Given the description of an element on the screen output the (x, y) to click on. 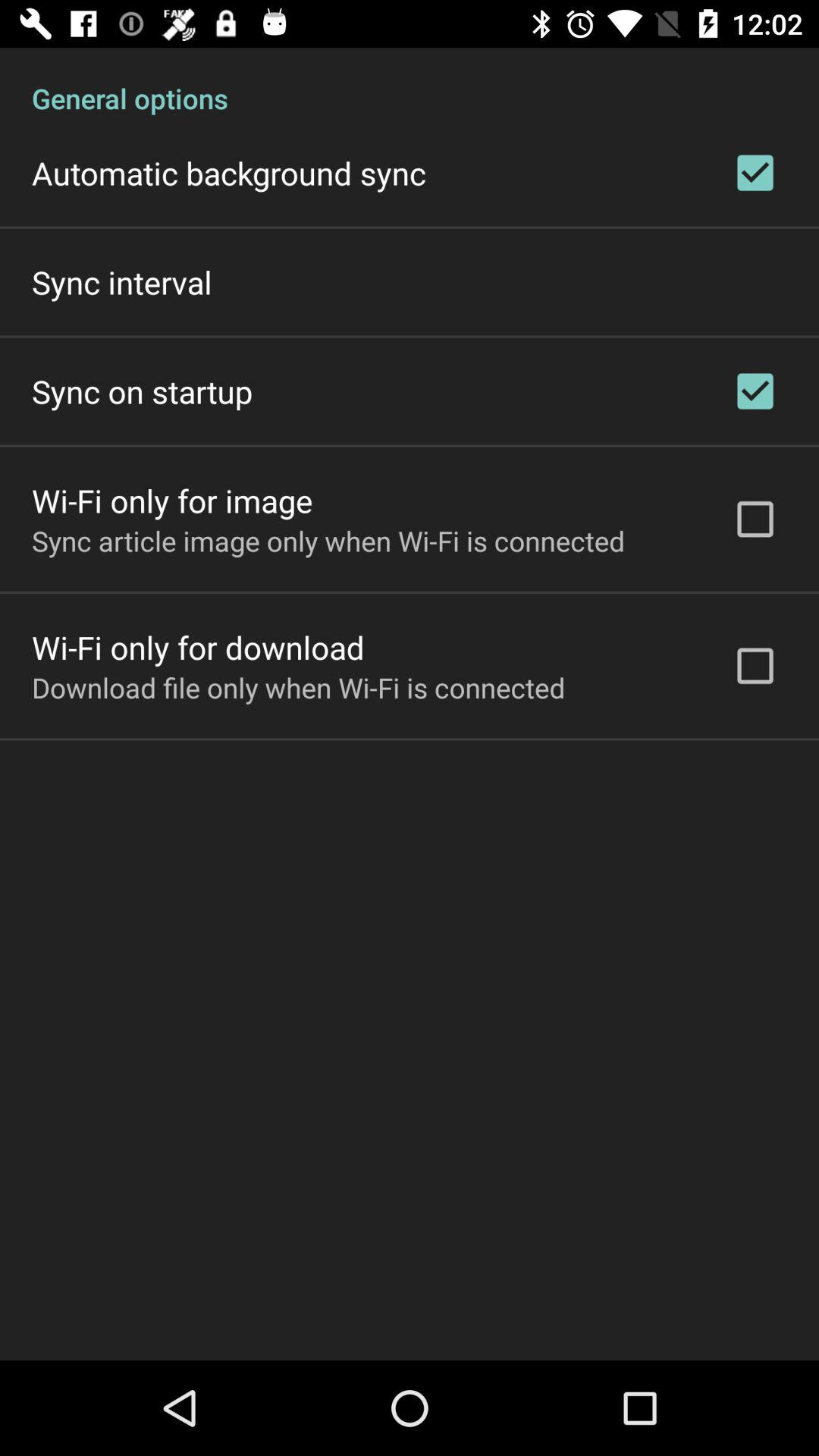
turn on automatic background sync (228, 172)
